Given the description of an element on the screen output the (x, y) to click on. 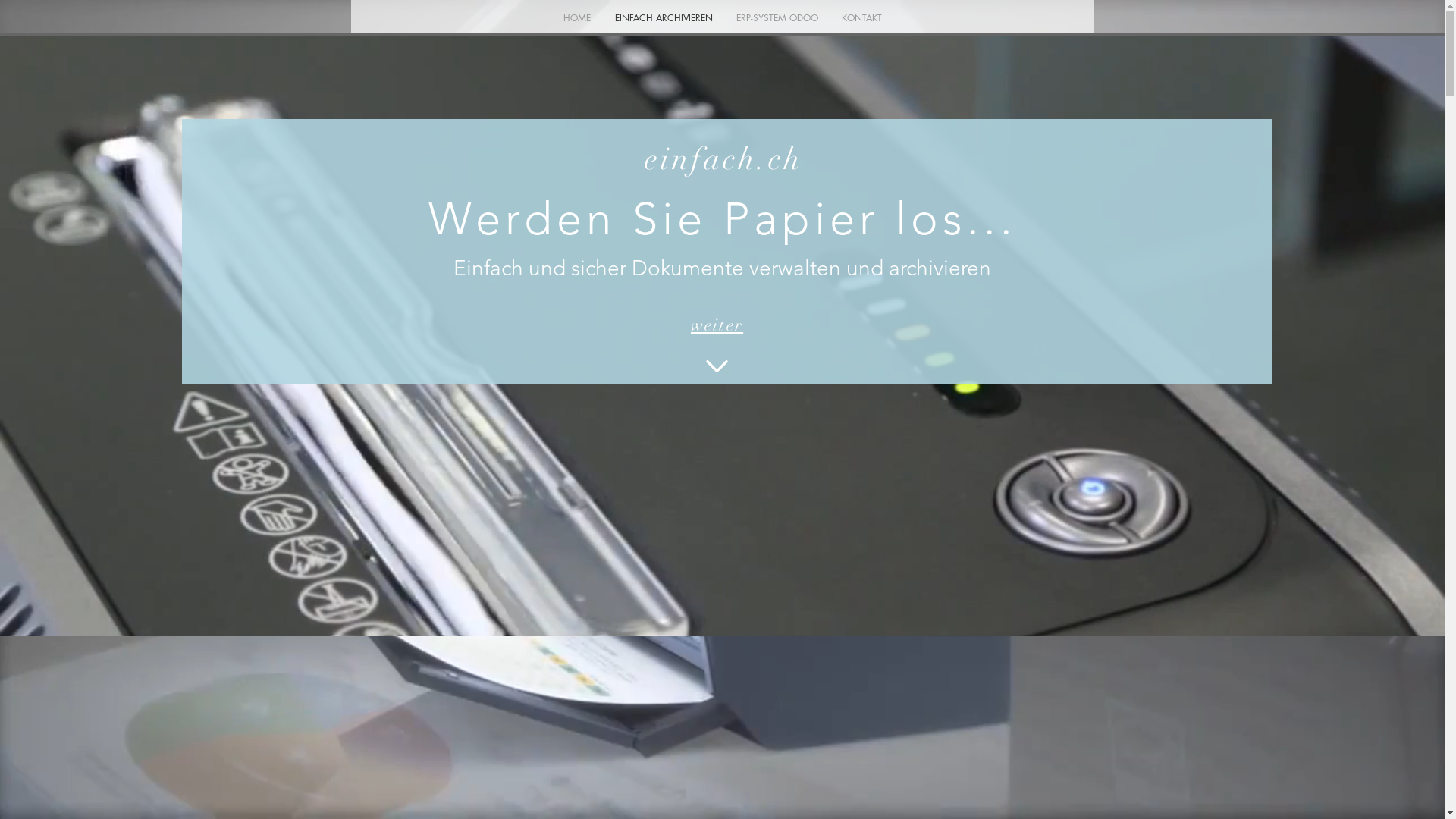
EINFACH ARCHIVIEREN Element type: text (663, 17)
HOME Element type: text (576, 17)
ERP-SYSTEM ODOO Element type: text (777, 17)
weiter Element type: text (716, 324)
KONTAKT Element type: text (861, 17)
